Given the description of an element on the screen output the (x, y) to click on. 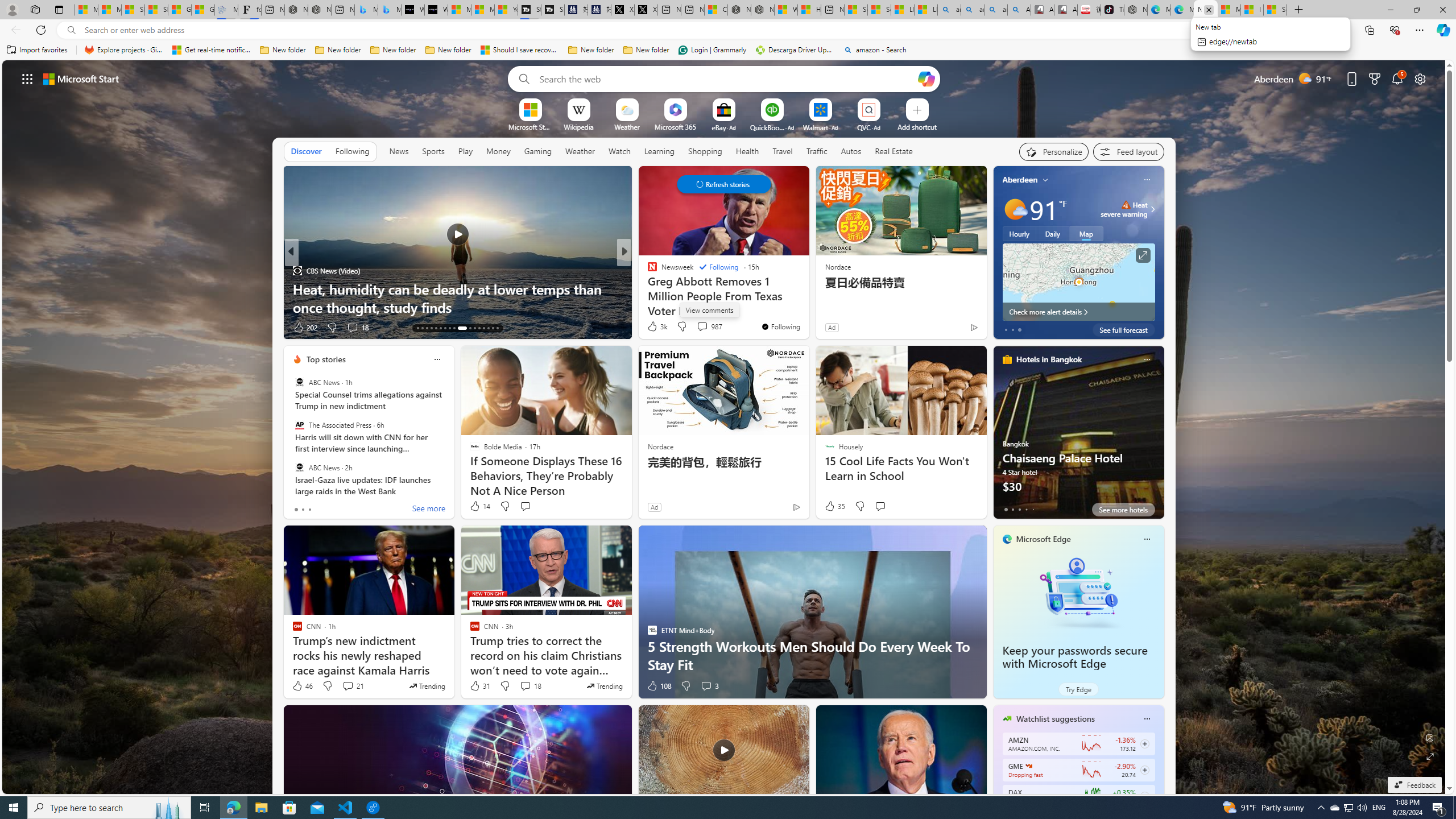
News (398, 151)
View comments 22 Comment (6, 327)
Open Copilot (925, 78)
AutomationID: tab-24 (474, 328)
The Independent (647, 270)
Minimize (1390, 9)
Class: follow-button  m (1144, 795)
Play (465, 151)
AutomationID: tab-19 (444, 328)
See more hotels (1123, 509)
Weather (579, 151)
Address and search bar (692, 29)
